Given the description of an element on the screen output the (x, y) to click on. 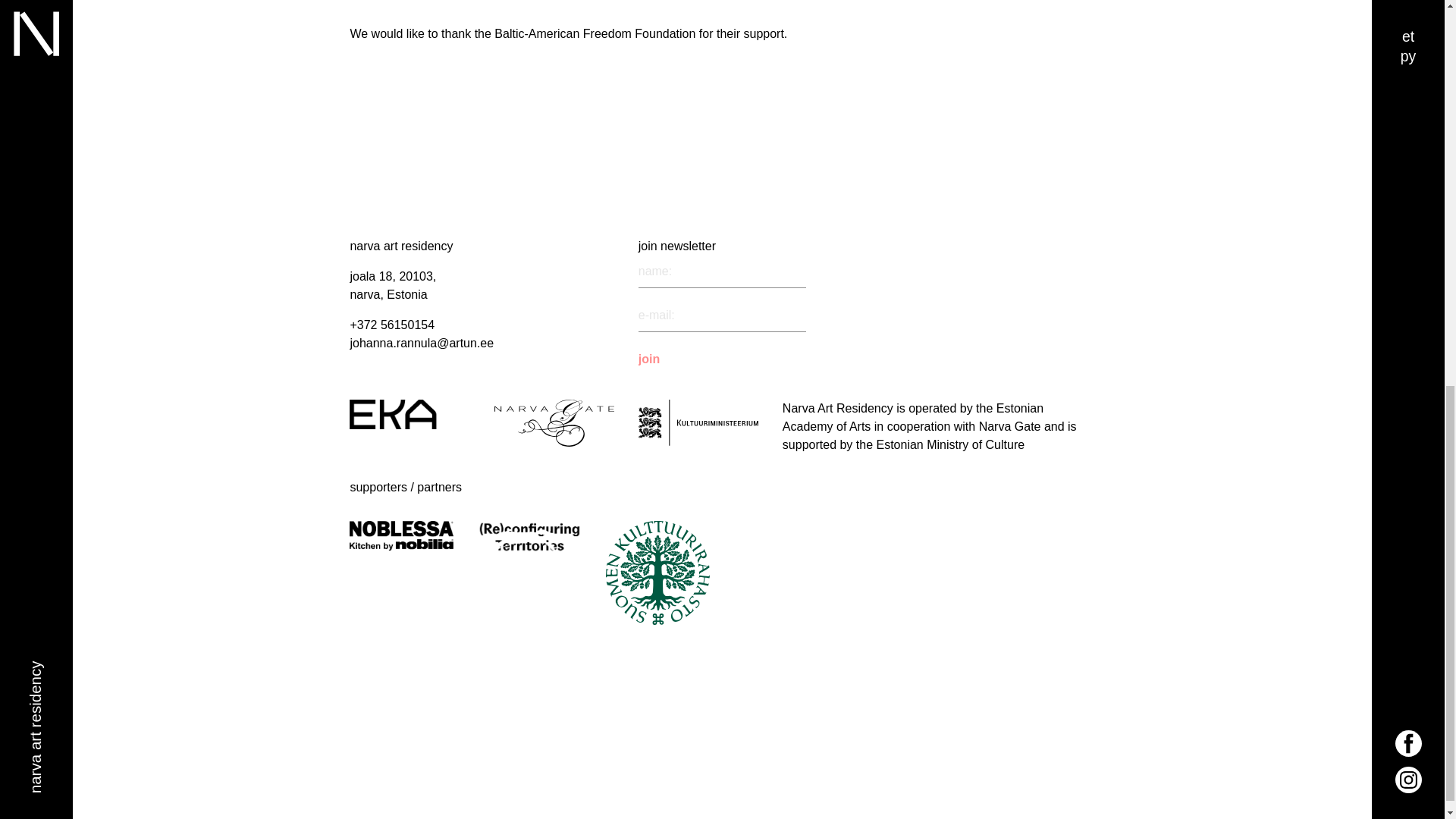
join (658, 359)
